Given the description of an element on the screen output the (x, y) to click on. 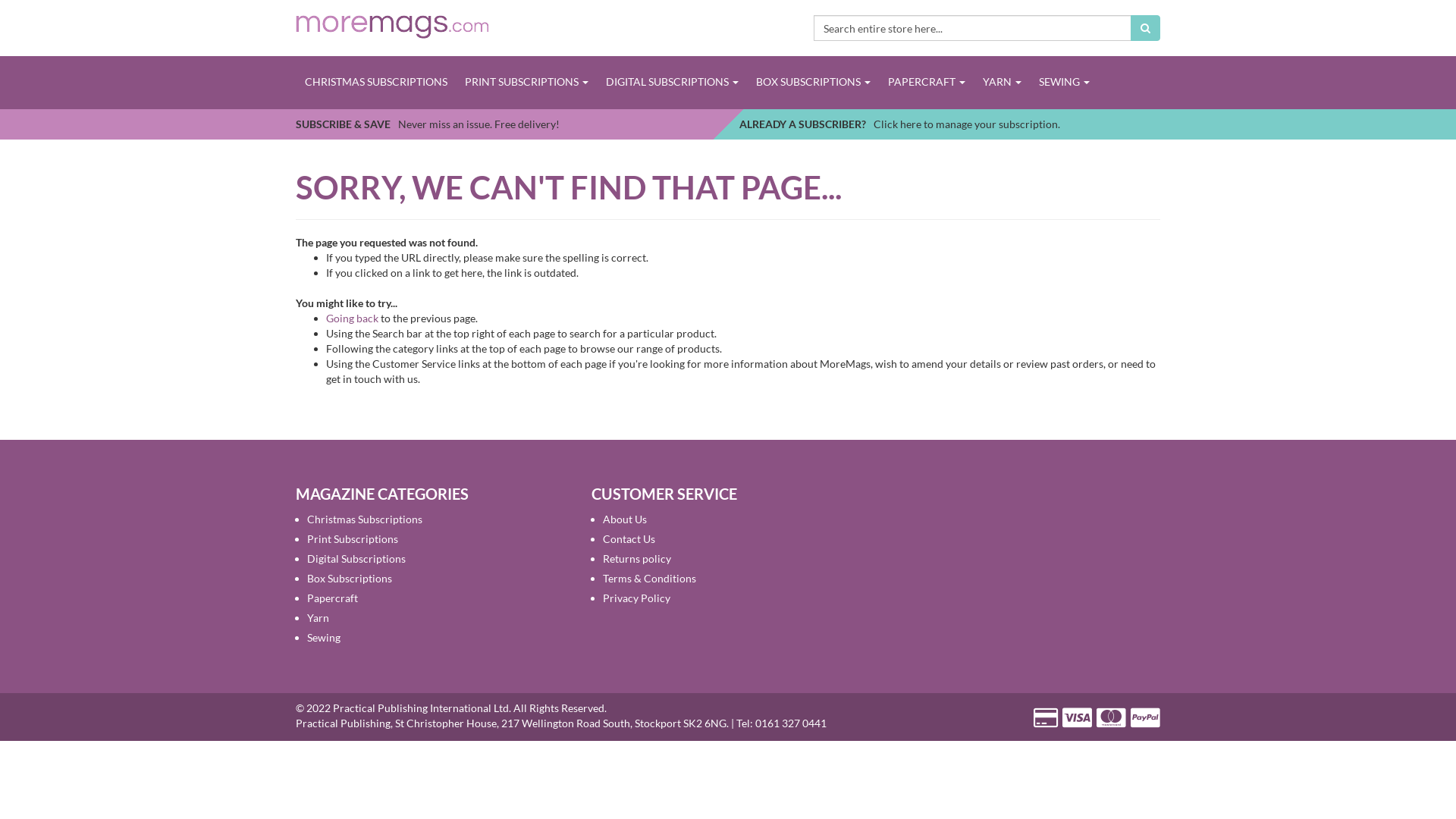
Returns policy Element type: text (636, 558)
Yarn Element type: text (318, 617)
DIGITAL SUBSCRIPTIONS Element type: text (671, 82)
YARN Element type: text (1001, 82)
About Us Element type: text (624, 518)
Click here Element type: text (897, 123)
SUBSCRIBE & SAVENever miss an issue. Free delivery! Element type: text (427, 123)
Digital Subscriptions Element type: text (356, 558)
SEWING Element type: text (1063, 82)
Papercraft Element type: text (332, 597)
Box Subscriptions Element type: text (349, 577)
Contact Us Element type: text (628, 538)
CHRISTMAS SUBSCRIPTIONS Element type: text (375, 82)
PRINT SUBSCRIPTIONS Element type: text (525, 82)
BOX SUBSCRIPTIONS Element type: text (812, 82)
PAPERCRAFT Element type: text (925, 82)
MoreMags Element type: text (392, 24)
Terms & Conditions Element type: text (649, 577)
Print Subscriptions Element type: text (352, 538)
Search Element type: hover (1145, 27)
Christmas Subscriptions Element type: text (364, 518)
Going back Element type: text (352, 317)
Sewing Element type: text (323, 636)
Privacy Policy Element type: text (636, 597)
